Given the description of an element on the screen output the (x, y) to click on. 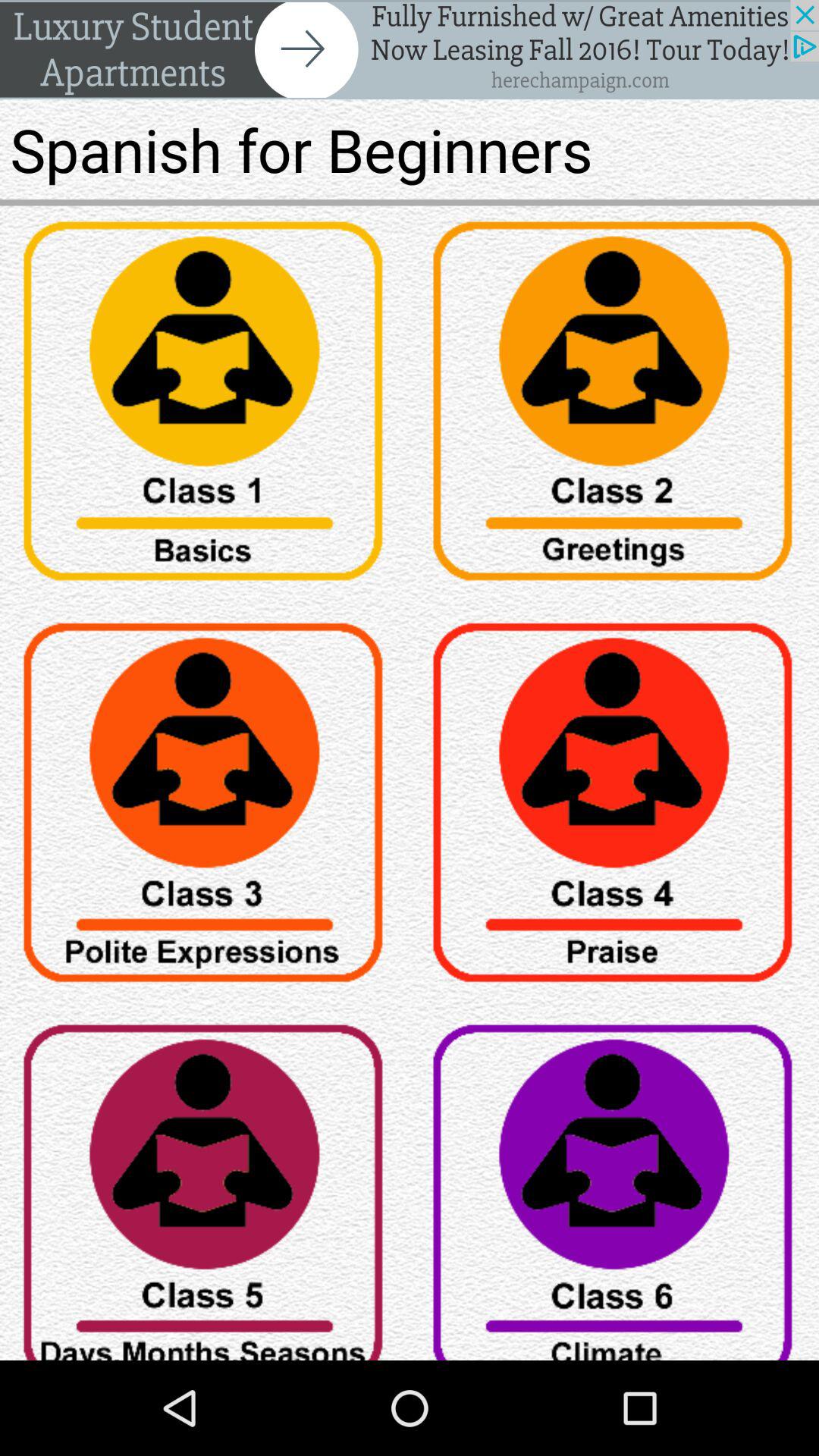
go to level 5 of spanish learning (204, 1184)
